Given the description of an element on the screen output the (x, y) to click on. 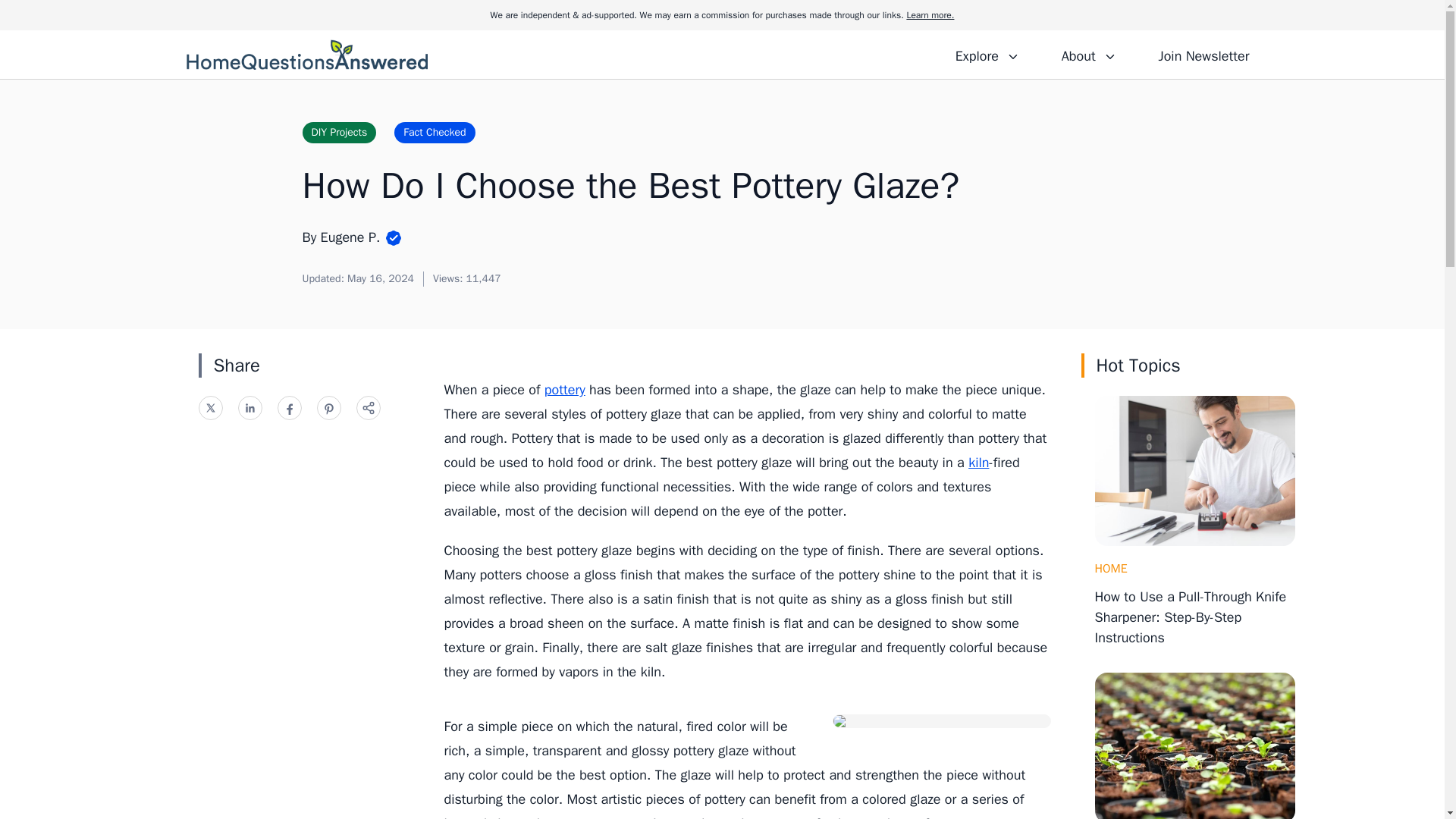
DIY Projects (338, 132)
Learn more. (929, 15)
Fact Checked (434, 132)
Join Newsletter (1202, 54)
Explore (986, 54)
About (1088, 54)
